Given the description of an element on the screen output the (x, y) to click on. 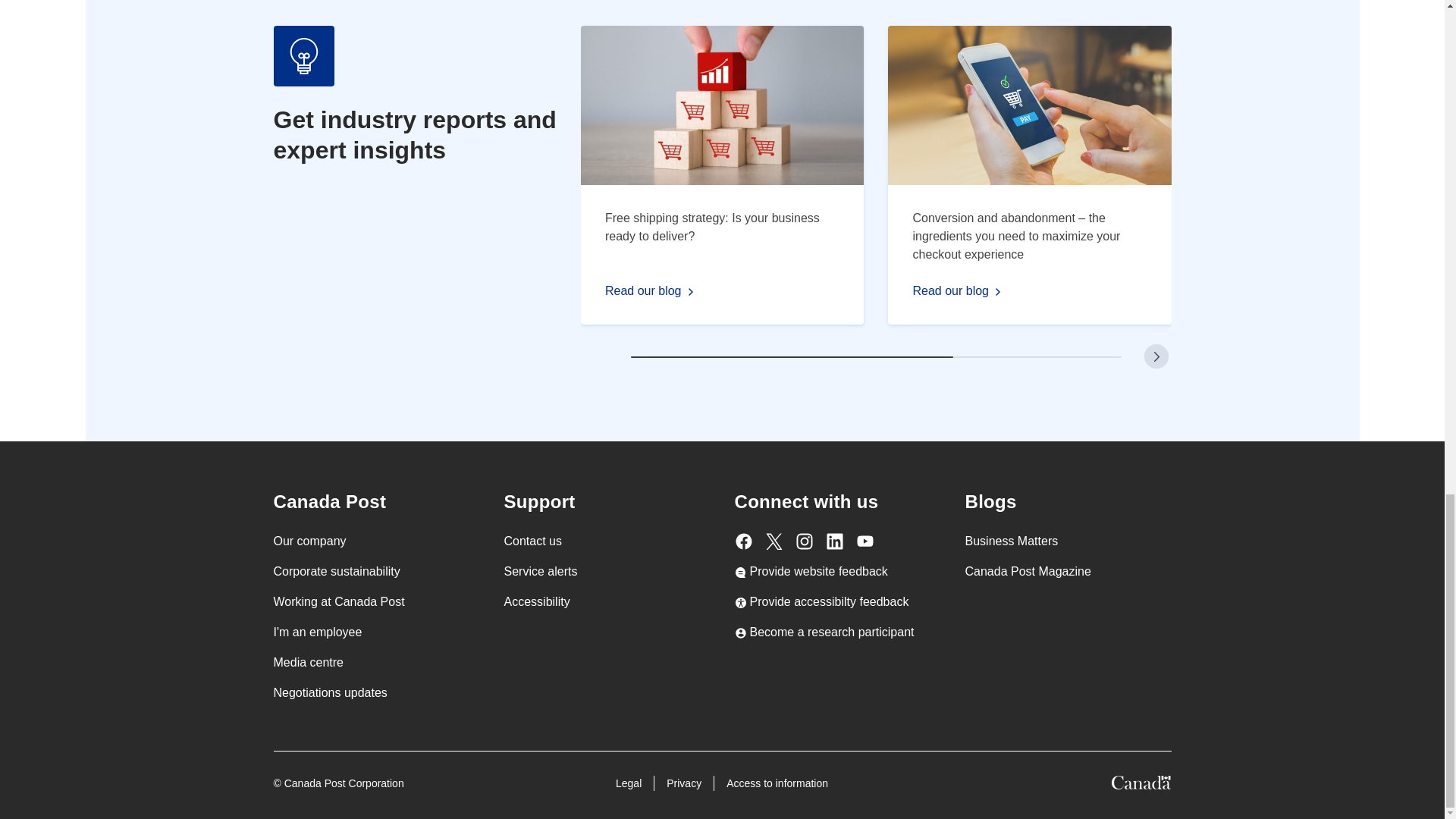
Instagram (803, 541)
Facebook (742, 541)
YouTube (864, 541)
Opens a new window (820, 601)
Opens a new window (809, 571)
Opens a new window (823, 632)
Twitter (773, 541)
Linkedin (834, 541)
